Given the description of an element on the screen output the (x, y) to click on. 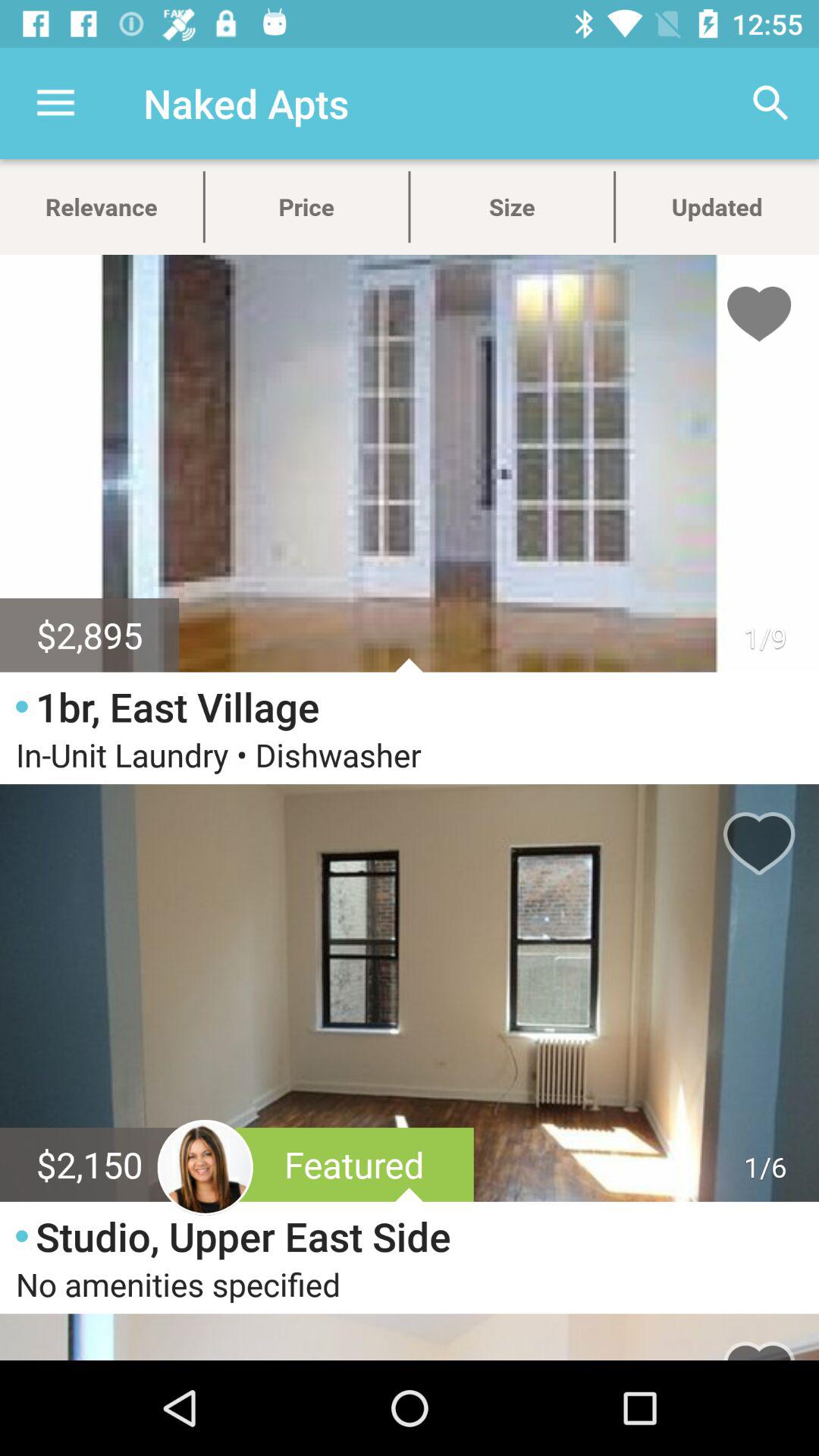
press the item to the right of size icon (771, 103)
